Given the description of an element on the screen output the (x, y) to click on. 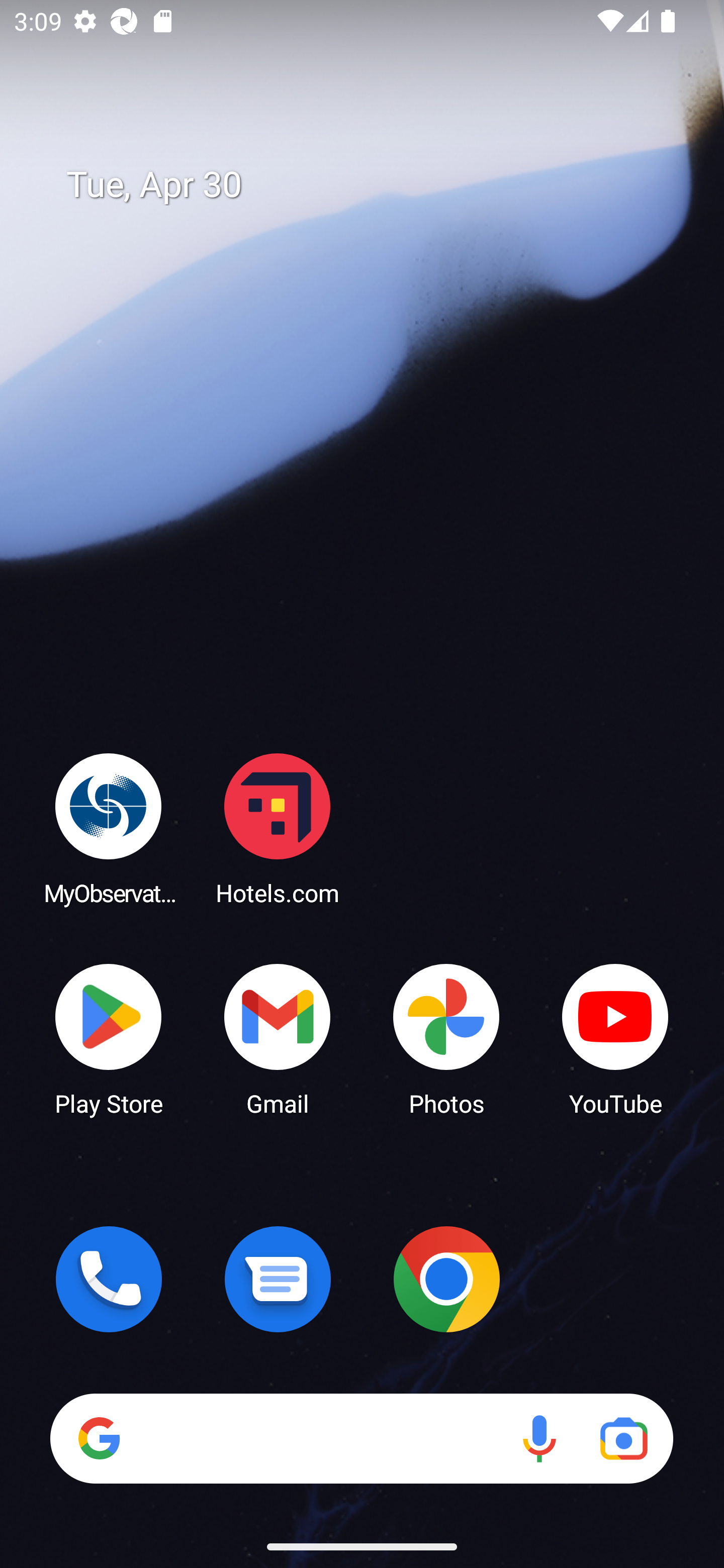
Tue, Apr 30 (375, 184)
MyObservatory (108, 828)
Hotels.com (277, 828)
Play Store (108, 1038)
Gmail (277, 1038)
Photos (445, 1038)
YouTube (615, 1038)
Phone (108, 1279)
Messages (277, 1279)
Chrome (446, 1279)
Voice search (539, 1438)
Google Lens (623, 1438)
